Given the description of an element on the screen output the (x, y) to click on. 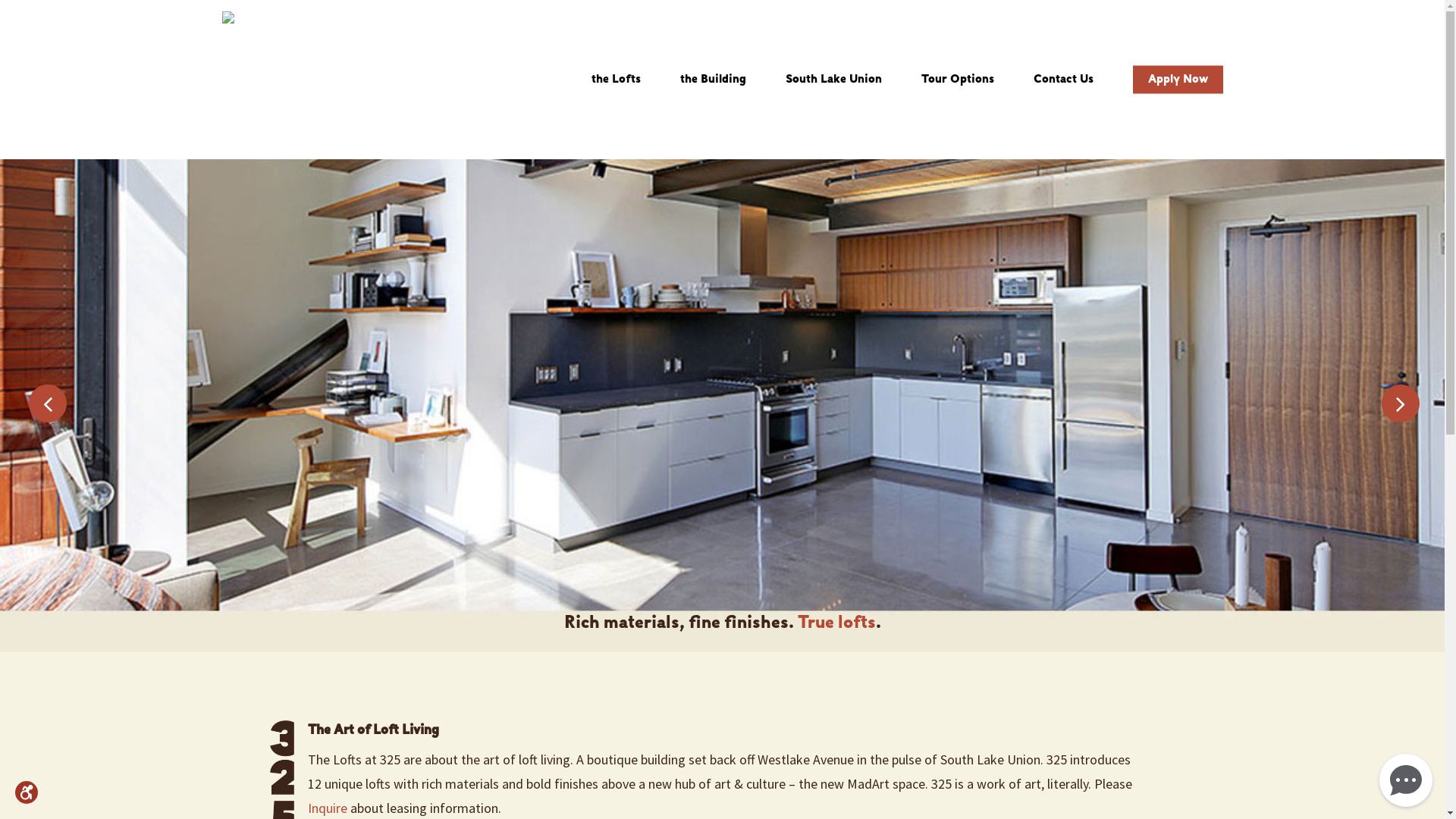
Apply Now Element type: text (1177, 79)
the Lofts Element type: text (615, 79)
True lofts Element type: text (836, 623)
Inquire Element type: text (327, 807)
Contact Us Element type: text (1062, 79)
the Building Element type: text (712, 79)
Tour Options Element type: text (956, 79)
South Lake Union Element type: text (833, 79)
